Given the description of an element on the screen output the (x, y) to click on. 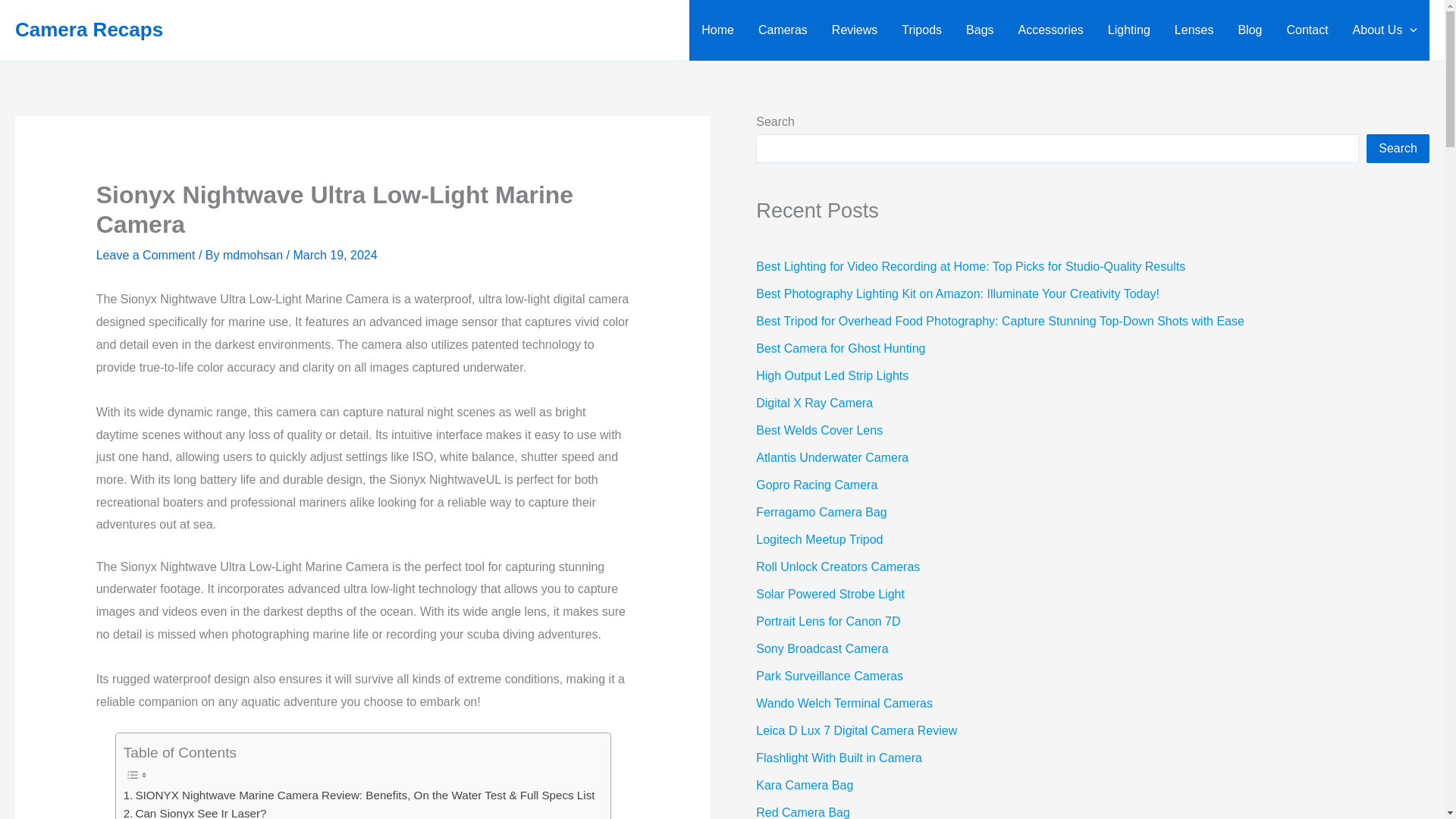
Reviews (854, 30)
Can Sionyx See Ir Laser? (194, 811)
Can Sionyx See Ir Laser? (194, 811)
Lighting (1128, 30)
Accessories (1051, 30)
Cameras (782, 30)
Home (716, 30)
Lenses (1193, 30)
Contact (1306, 30)
Tripods (921, 30)
Leave a Comment (145, 254)
About Us (1384, 30)
Camera Recaps (88, 29)
View all posts by mdmohsan (254, 254)
mdmohsan (254, 254)
